Given the description of an element on the screen output the (x, y) to click on. 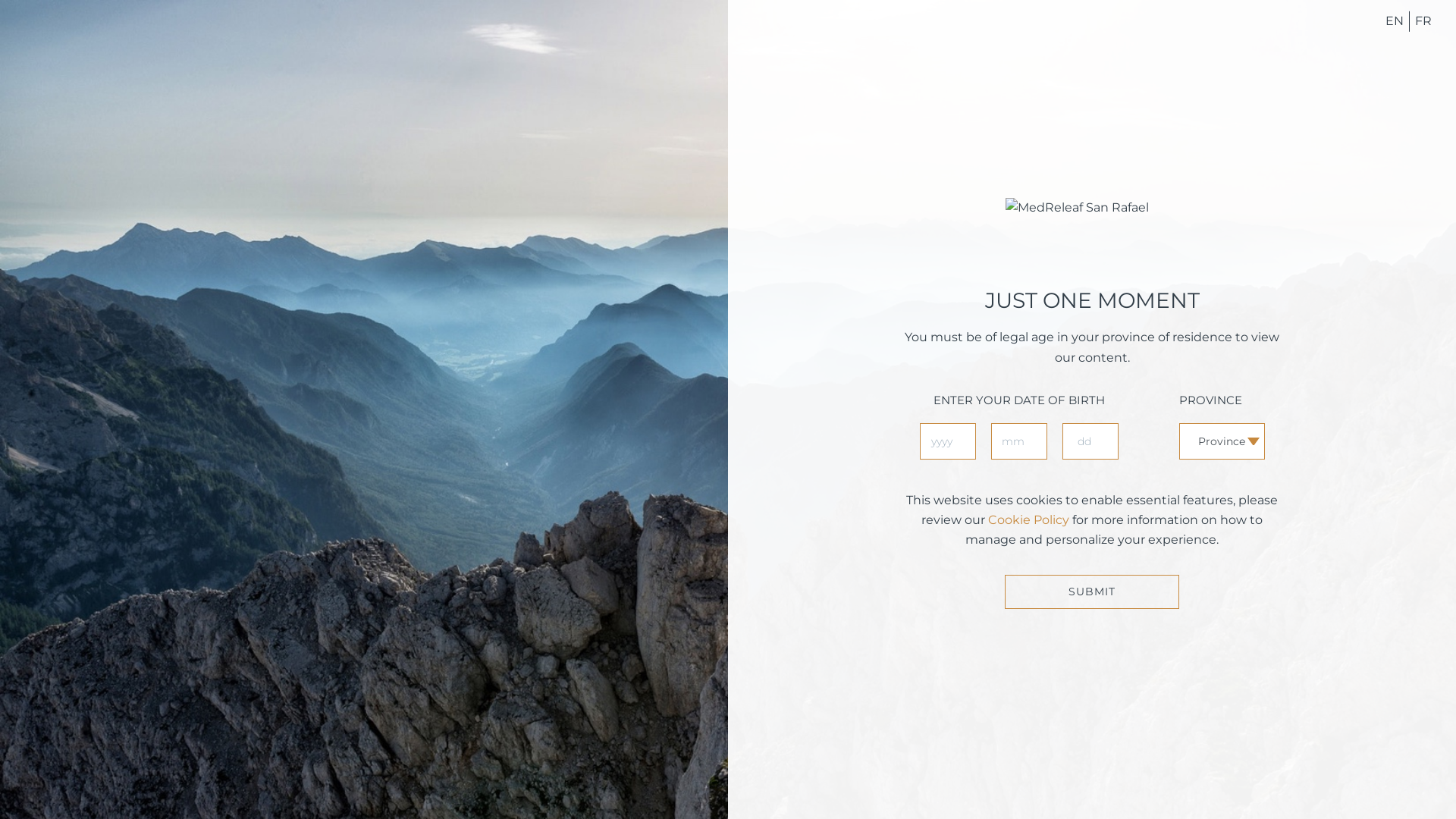
LET'S BEGIN Element type: text (486, 222)
EN Element type: text (1397, 19)
Cookie Policy Element type: text (1028, 519)
Media Element type: text (1135, 355)
EN Element type: text (1394, 21)
FR Element type: text (1421, 19)
SUBMIT Element type: text (1091, 591)
Contact Us Element type: text (1079, 355)
FR Element type: text (1419, 21)
HOME Element type: text (655, 48)
Privacy Element type: text (1181, 355)
OUR STRAINS Element type: text (840, 48)
